Given the description of an element on the screen output the (x, y) to click on. 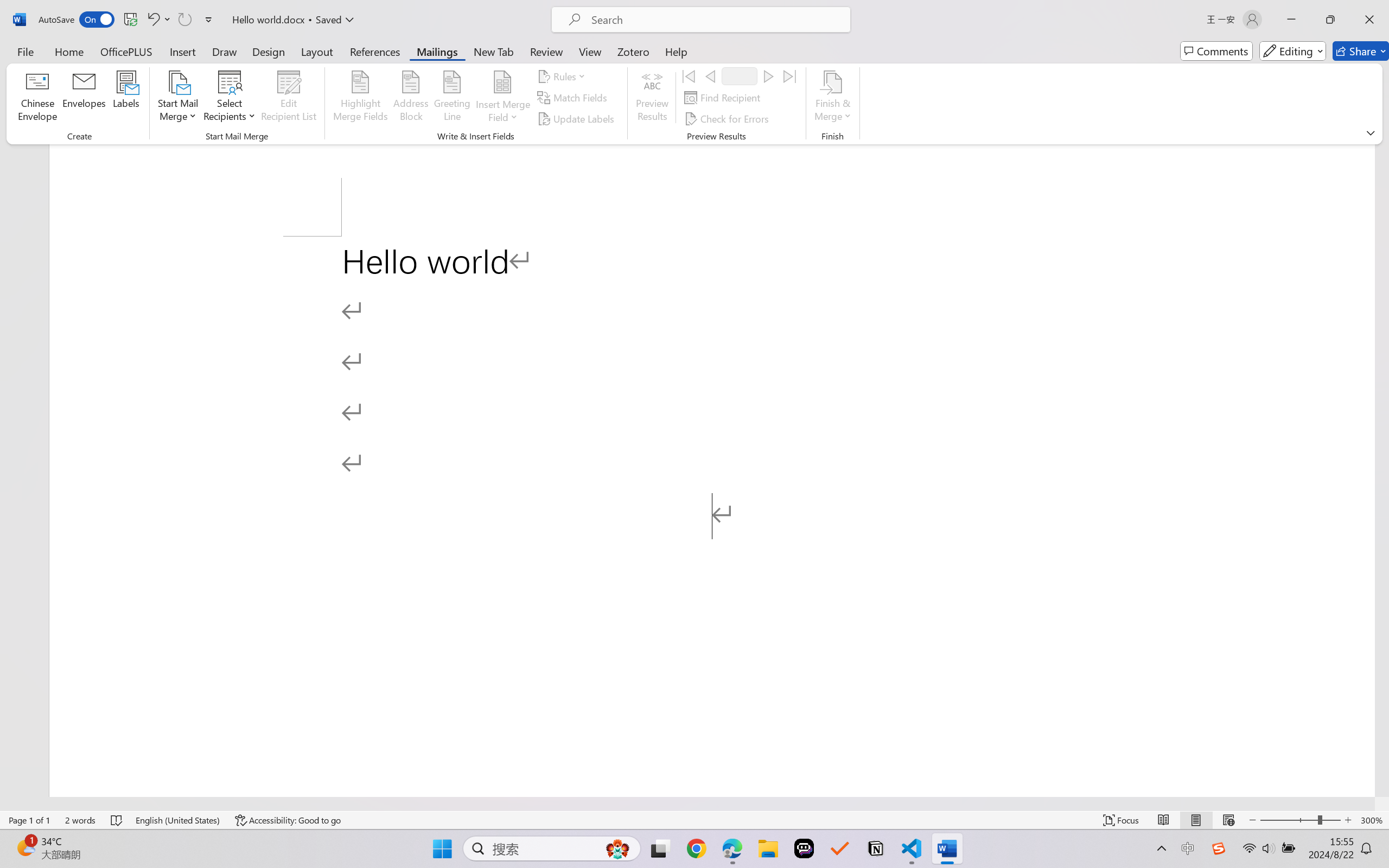
Update Labels (576, 118)
Class: Image (1218, 847)
Word Count 2 words (80, 819)
Can't Repeat (184, 19)
Envelopes... (84, 97)
References (375, 51)
Page Number Page 1 of 1 (29, 819)
Zoom 300% (1372, 819)
AutomationID: DynamicSearchBoxGleamImage (617, 848)
Insert (182, 51)
Undo Click and Type Formatting (158, 19)
Greeting Line... (451, 97)
Focus  (1121, 819)
Zotero (632, 51)
